Given the description of an element on the screen output the (x, y) to click on. 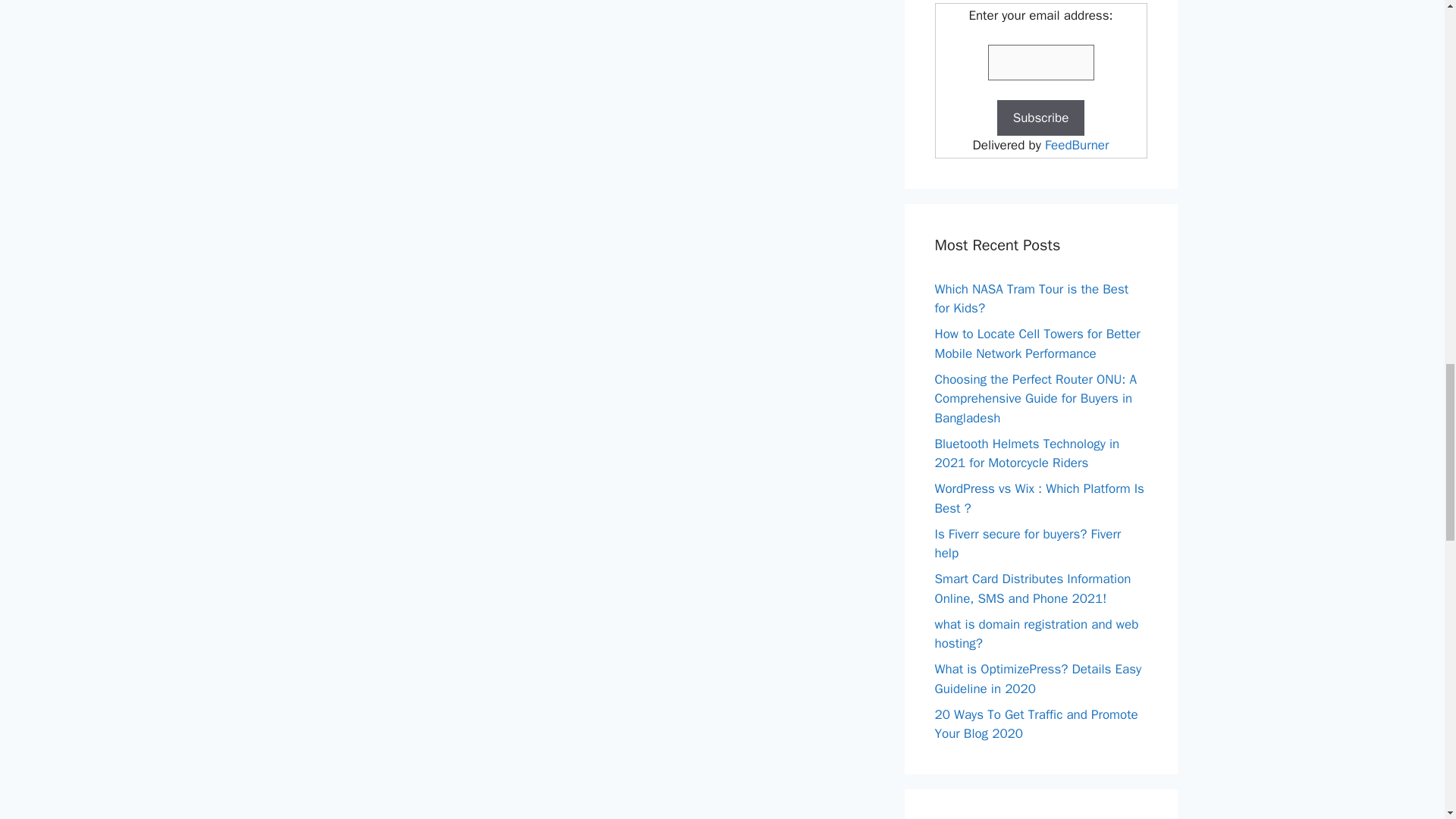
WordPress vs Wix : Which Platform Is Best ? (1038, 498)
Which NASA Tram Tour is the Best for Kids? (1031, 298)
what is domain registration and web hosting? (1036, 633)
20 Ways To Get Traffic and Promote Your Blog 2020 (1035, 724)
Is Fiverr secure for buyers? Fiverr help (1027, 543)
Subscribe (1040, 117)
Bluetooth Helmets Technology in 2021 for Motorcycle Riders (1026, 452)
Subscribe (1040, 117)
What is OptimizePress? Details Easy Guideline in 2020 (1037, 678)
FeedBurner (1077, 145)
